Given the description of an element on the screen output the (x, y) to click on. 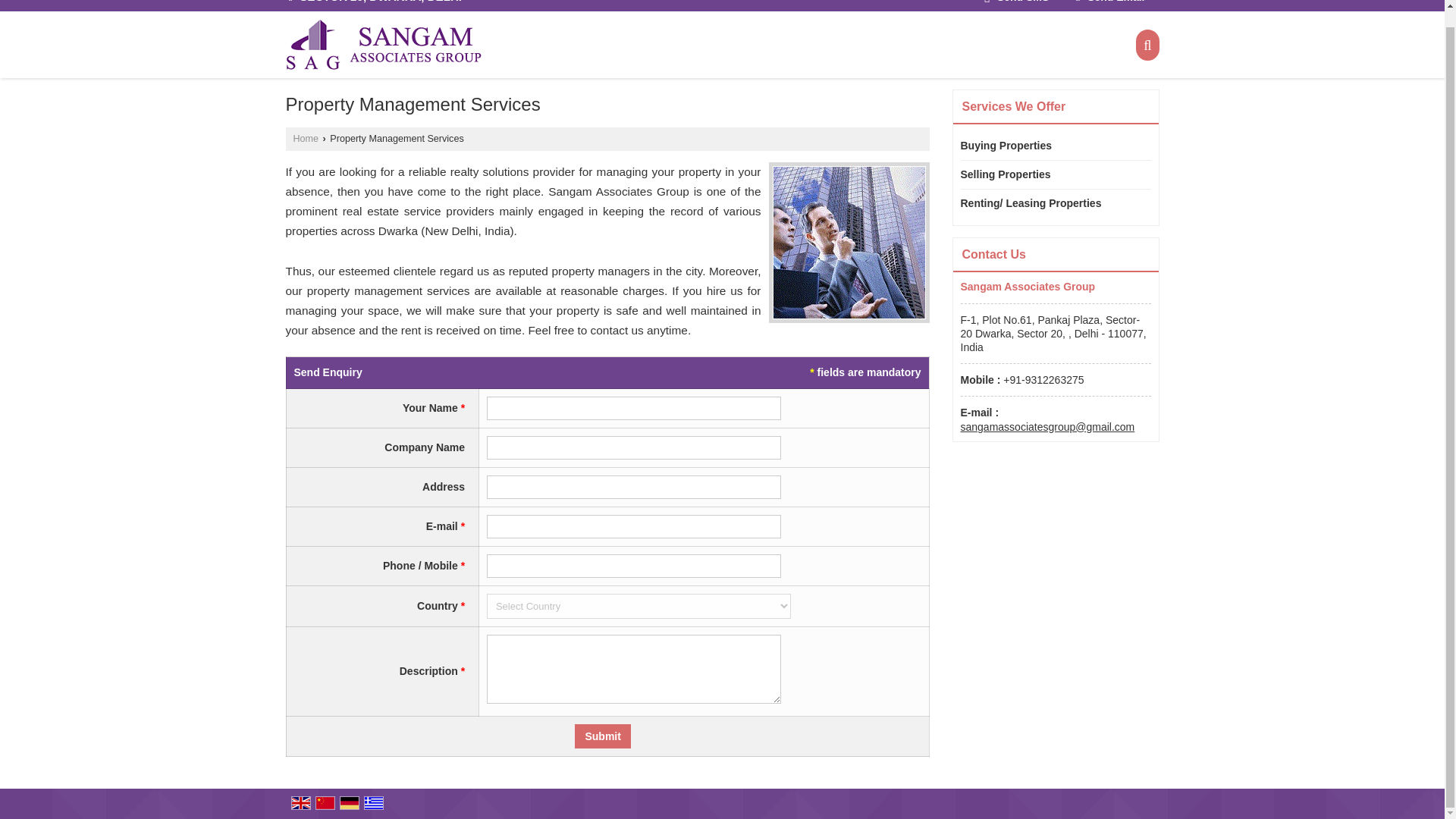
Send SMS (1015, 3)
Submit (602, 735)
Sangam Associates Group (382, 44)
Send Email (1110, 3)
